Given the description of an element on the screen output the (x, y) to click on. 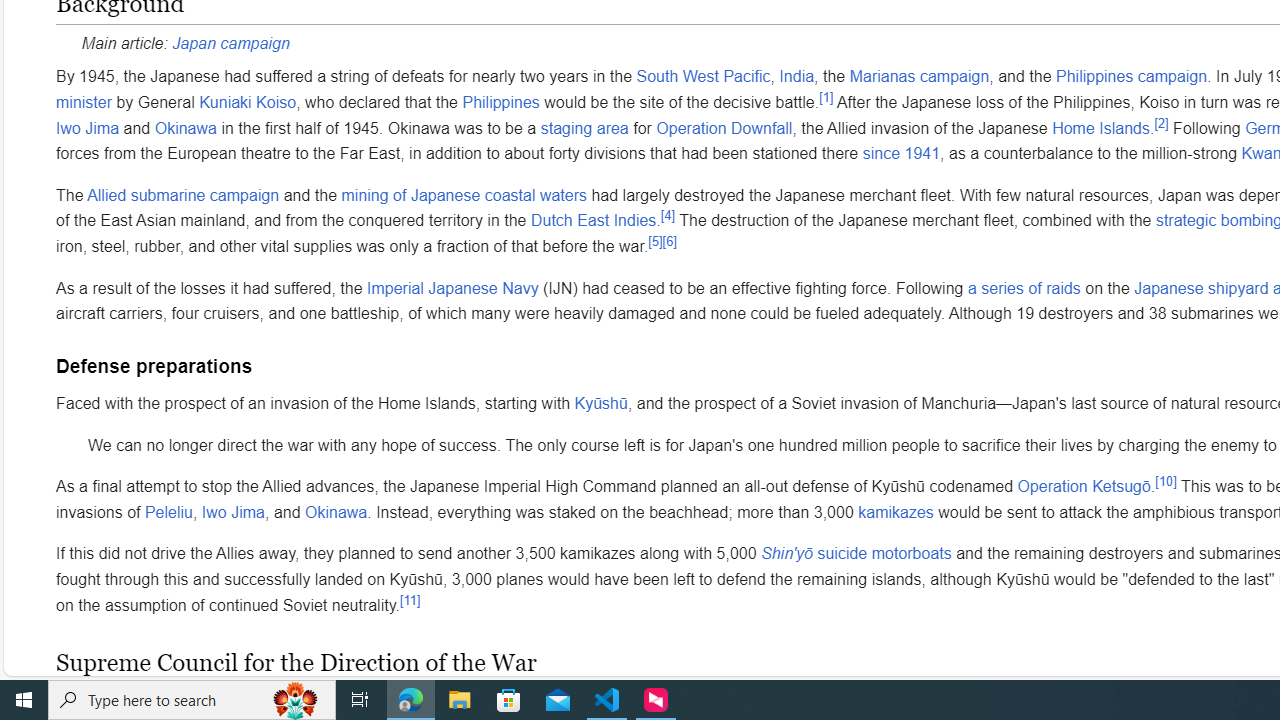
Operation Downfall (724, 127)
[11] (410, 599)
mining of Japanese coastal waters (463, 194)
Japan campaign (230, 42)
Home Islands (1100, 127)
Kuniaki Koiso (247, 101)
kamikazes (895, 512)
since 1941 (900, 153)
[6] (669, 241)
Okinawa (336, 512)
[2] (1161, 123)
[4] (667, 215)
Iwo Jima (232, 512)
